Given the description of an element on the screen output the (x, y) to click on. 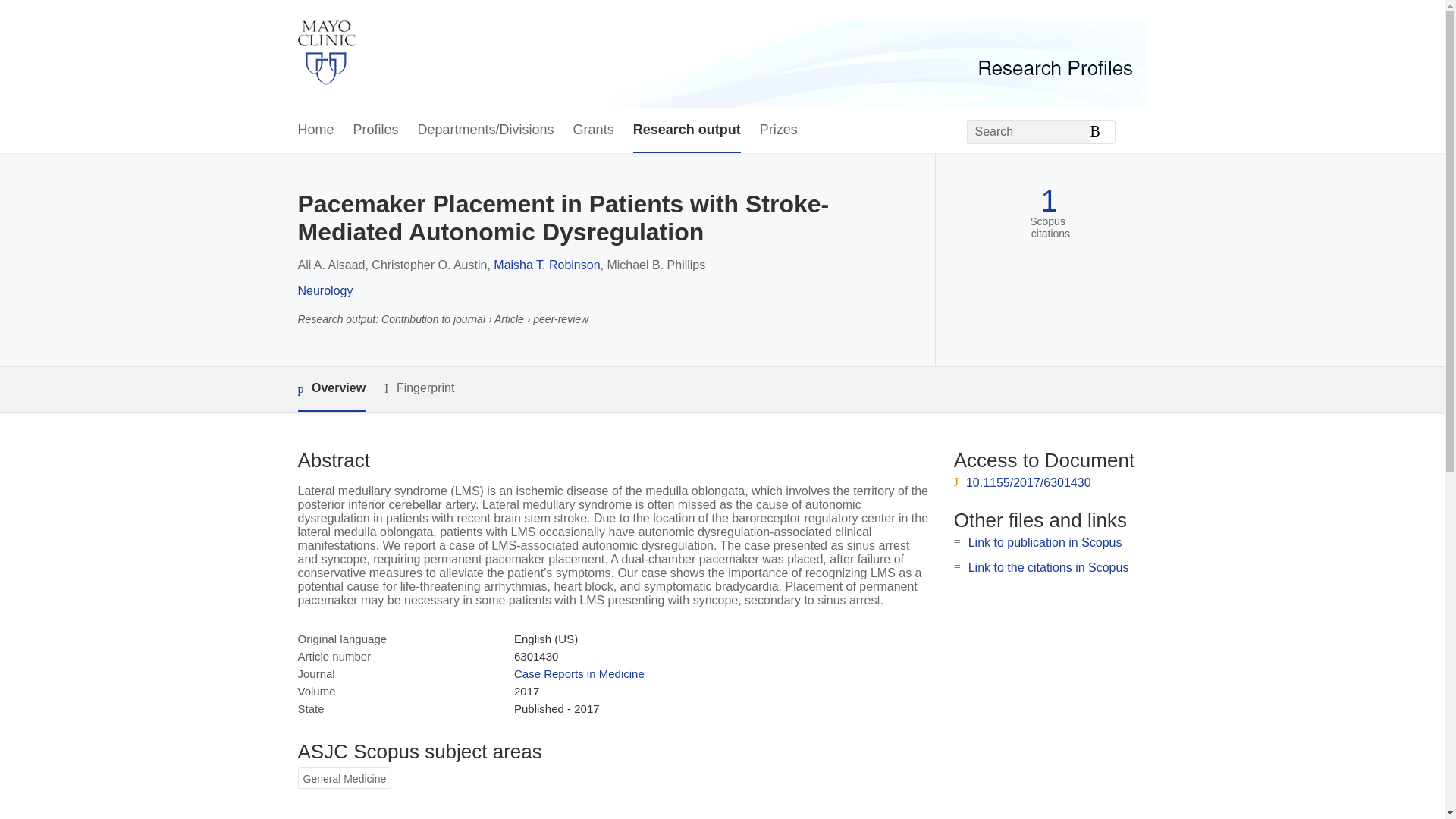
Profiles (375, 130)
Link to the citations in Scopus (1048, 567)
Maisha T. Robinson (546, 264)
Case Reports in Medicine (579, 673)
Link to publication in Scopus (1045, 542)
Grants (593, 130)
Fingerprint (419, 388)
Neurology (324, 290)
Research output (687, 130)
